Given the description of an element on the screen output the (x, y) to click on. 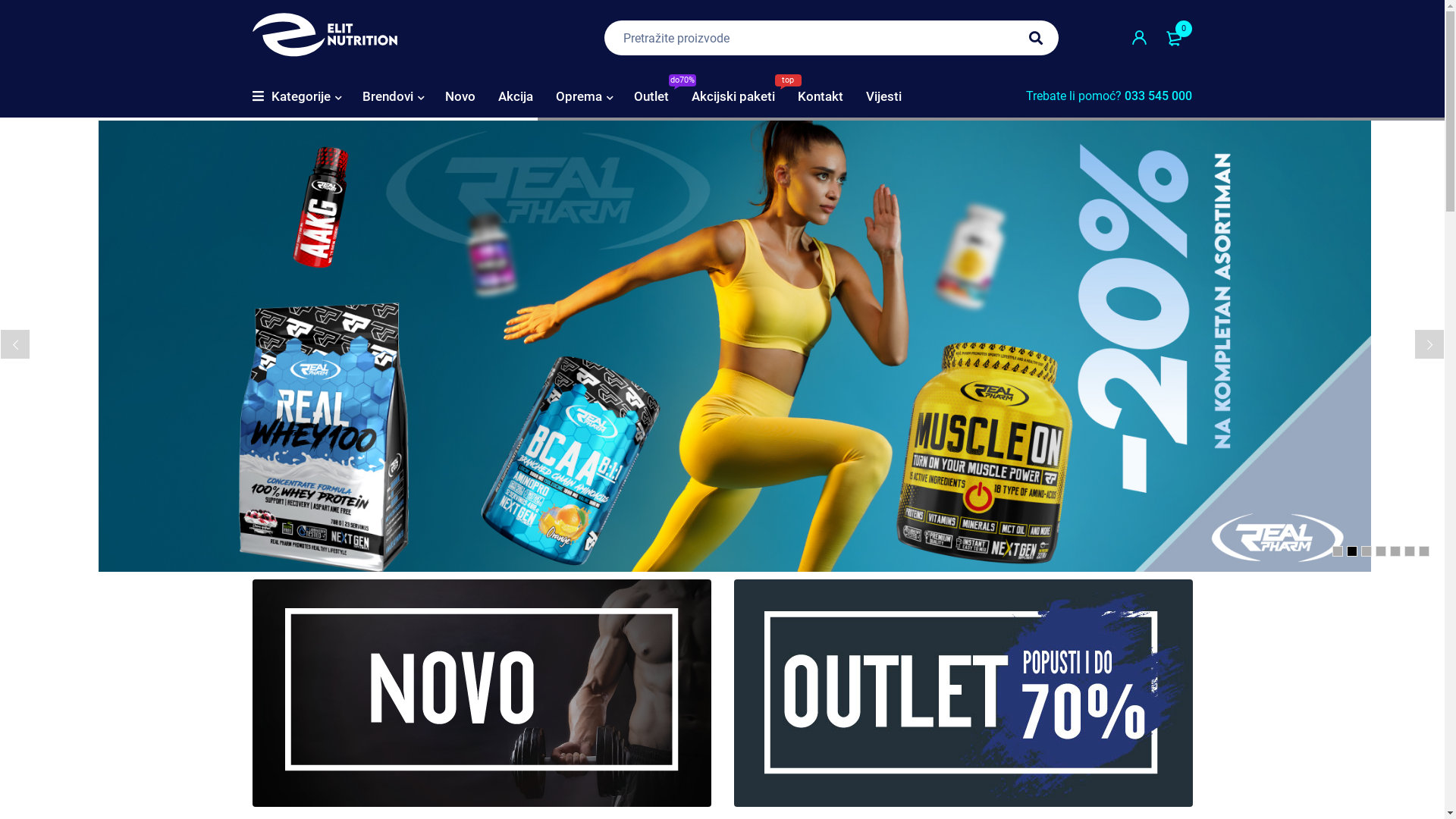
0 Element type: text (1174, 37)
Vijesti Element type: text (883, 96)
Novo Element type: hover (480, 692)
Oprema Element type: text (578, 96)
Akcija Element type: text (514, 96)
Kontakt Element type: text (820, 96)
Kategorije Element type: text (300, 96)
Akcijski paketi
top Element type: text (733, 96)
Brendovi Element type: text (387, 96)
Novo Element type: text (459, 96)
Outlet
do70% Element type: text (650, 96)
Outlet Element type: hover (963, 692)
